Given the description of an element on the screen output the (x, y) to click on. 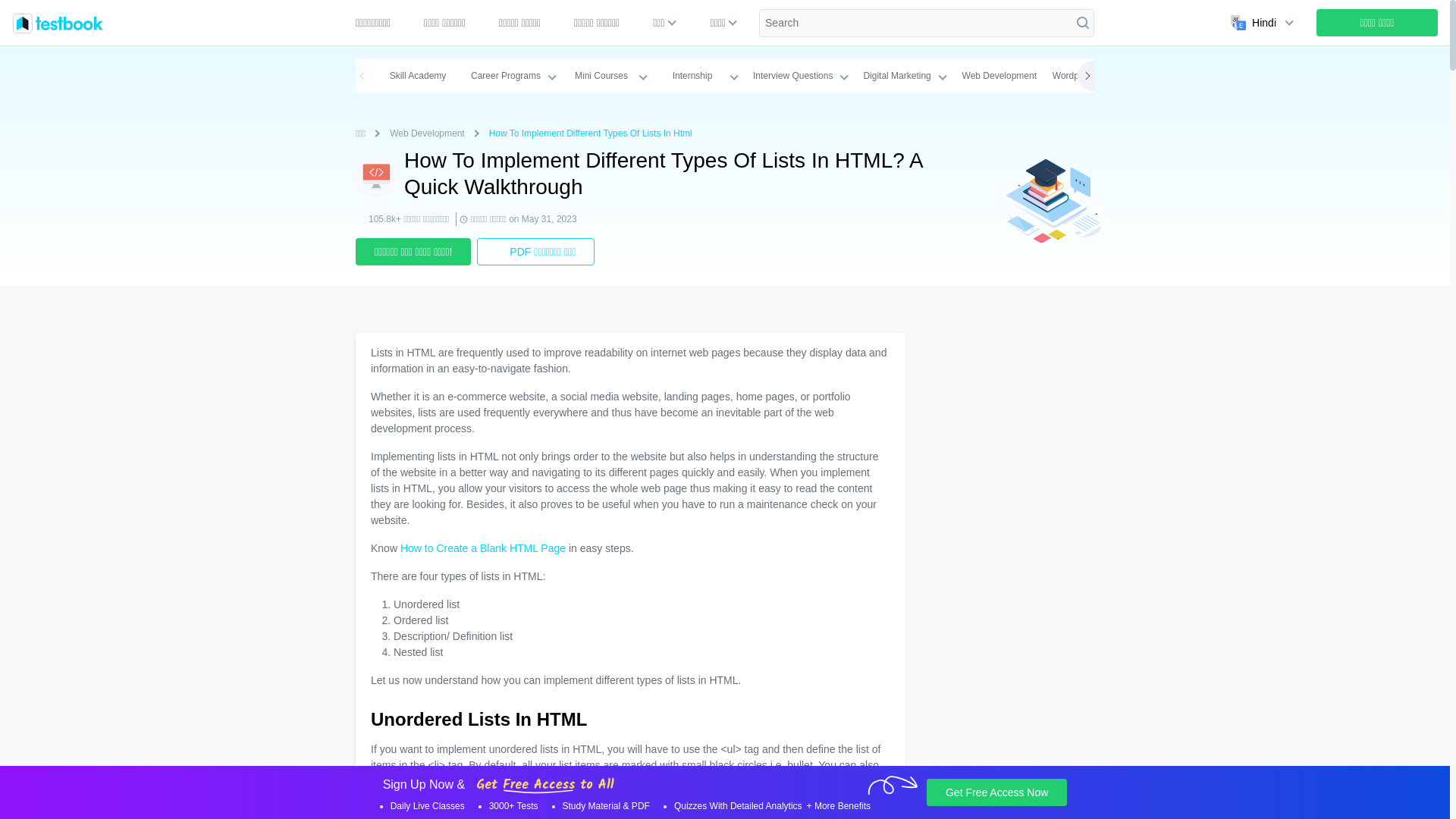
Hindi (1259, 22)
Sign Up (1377, 22)
Skill Academy (417, 75)
